Given the description of an element on the screen output the (x, y) to click on. 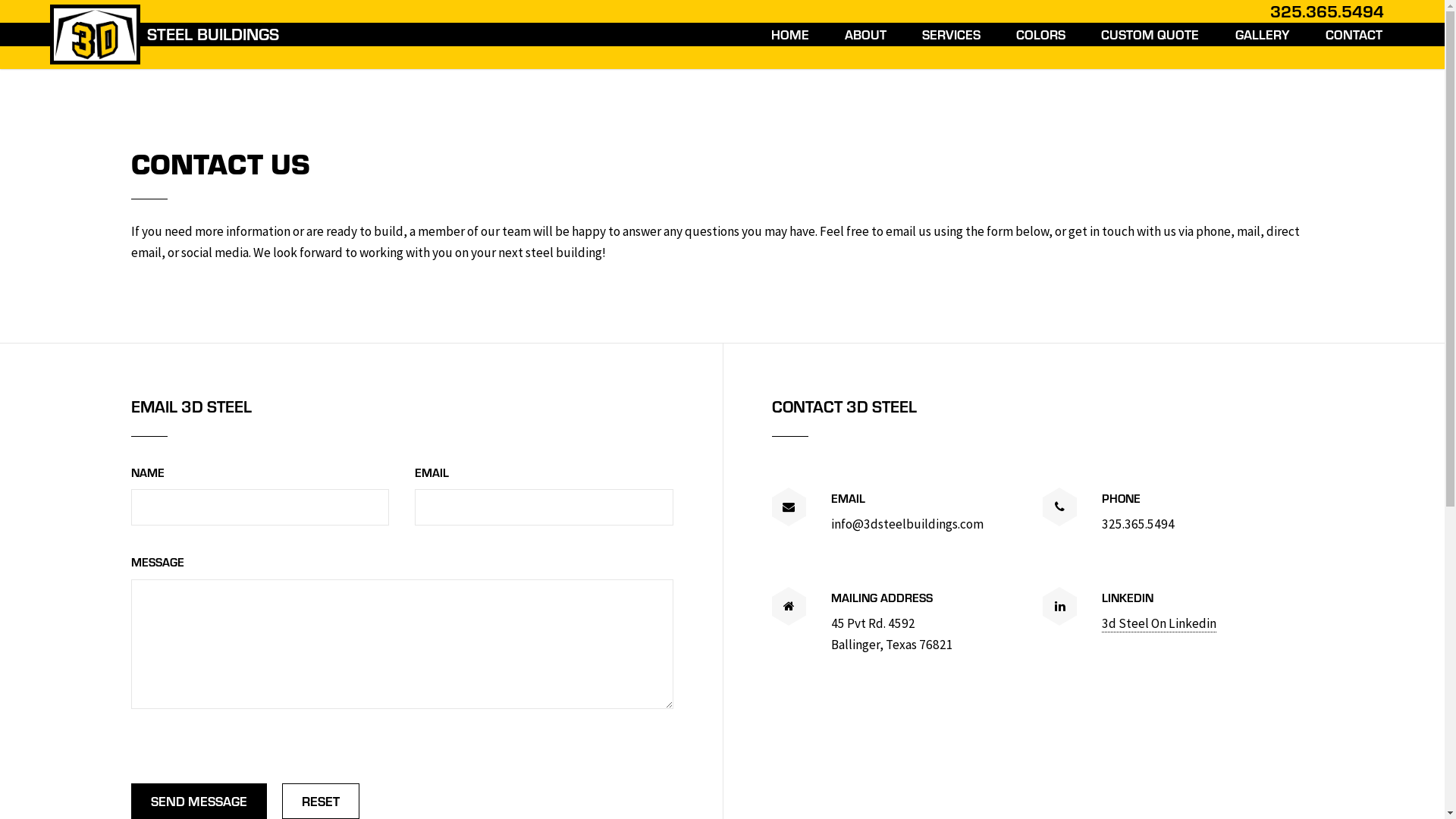
CUSTOM QUOTE Element type: text (1149, 34)
GALLERY Element type: text (1262, 34)
3d Steel On Linkedin Element type: text (1158, 623)
325.365.5494 Element type: text (1328, 10)
CONTACT Element type: text (1353, 34)
HOME Element type: text (789, 34)
ABOUT Element type: text (865, 34)
SERVICES Element type: text (951, 34)
COLORS Element type: text (1040, 34)
3D STEEL BUILDINGS Element type: text (168, 36)
